Given the description of an element on the screen output the (x, y) to click on. 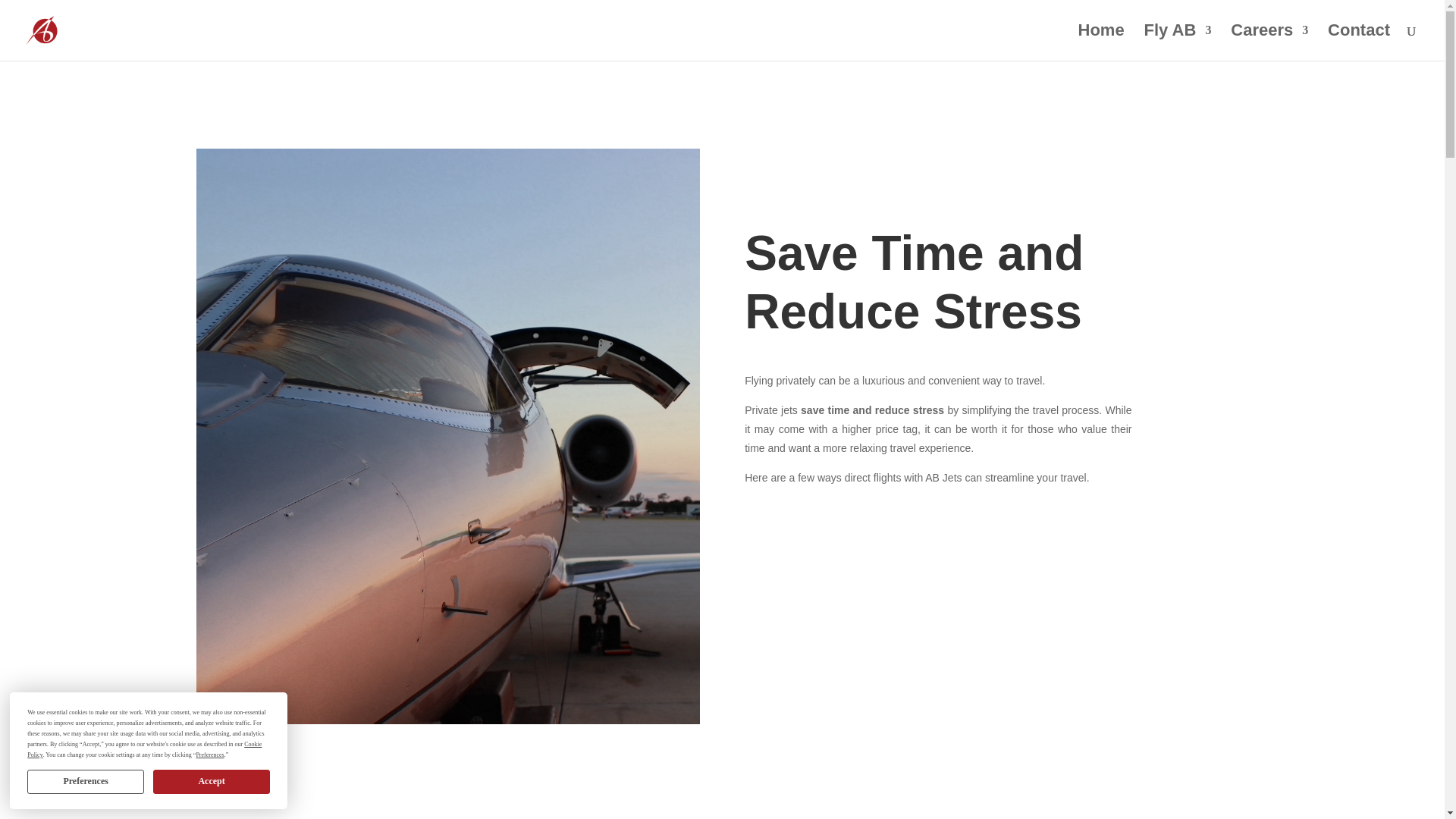
Accept (210, 781)
Fly AB (1177, 42)
Preferences (85, 781)
Home (1101, 42)
Careers (1268, 42)
Contact (1358, 42)
